Given the description of an element on the screen output the (x, y) to click on. 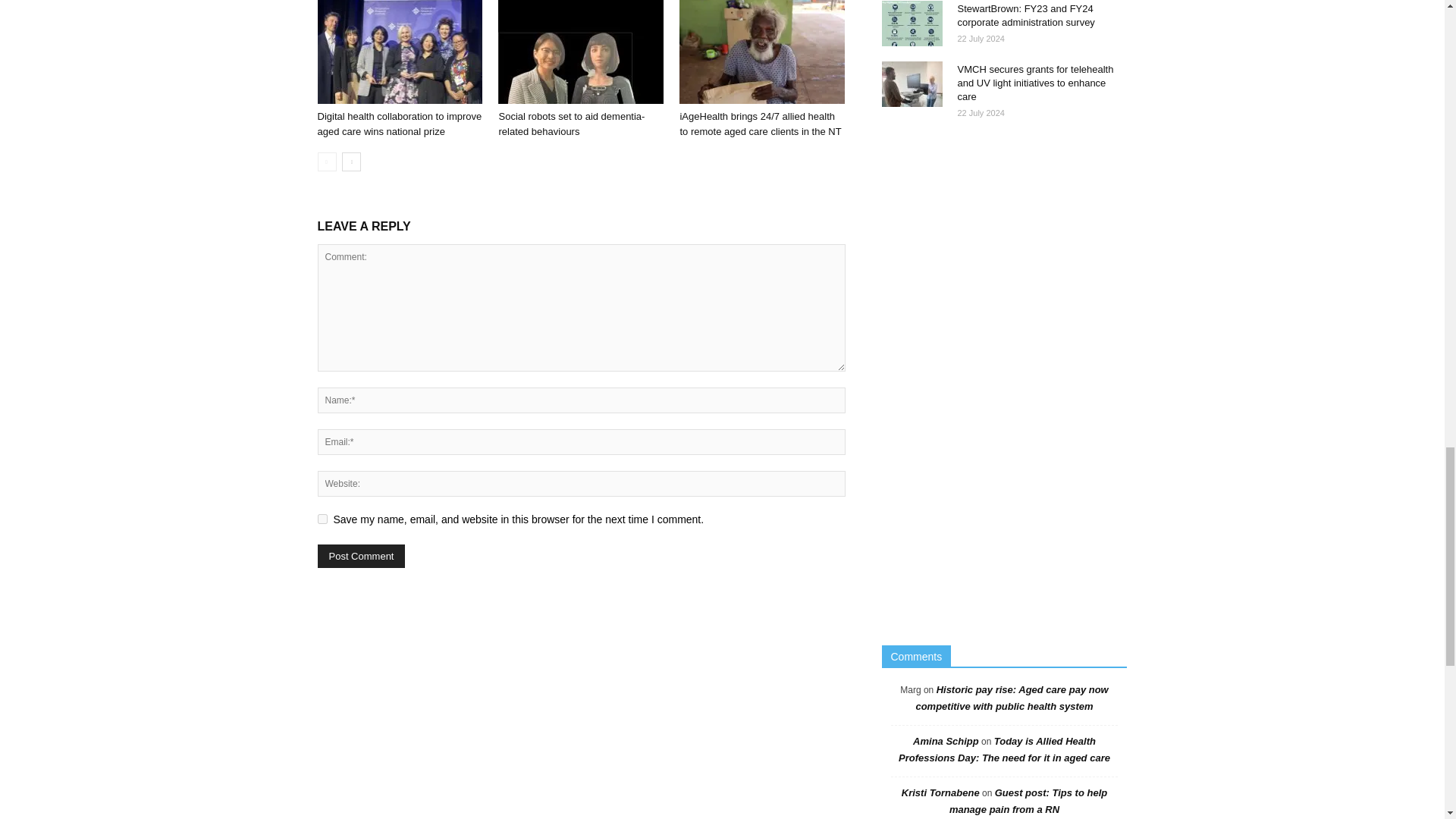
yes (321, 519)
Social robots set to aid dementia-related behaviours (580, 52)
Post Comment (360, 556)
